Given the description of an element on the screen output the (x, y) to click on. 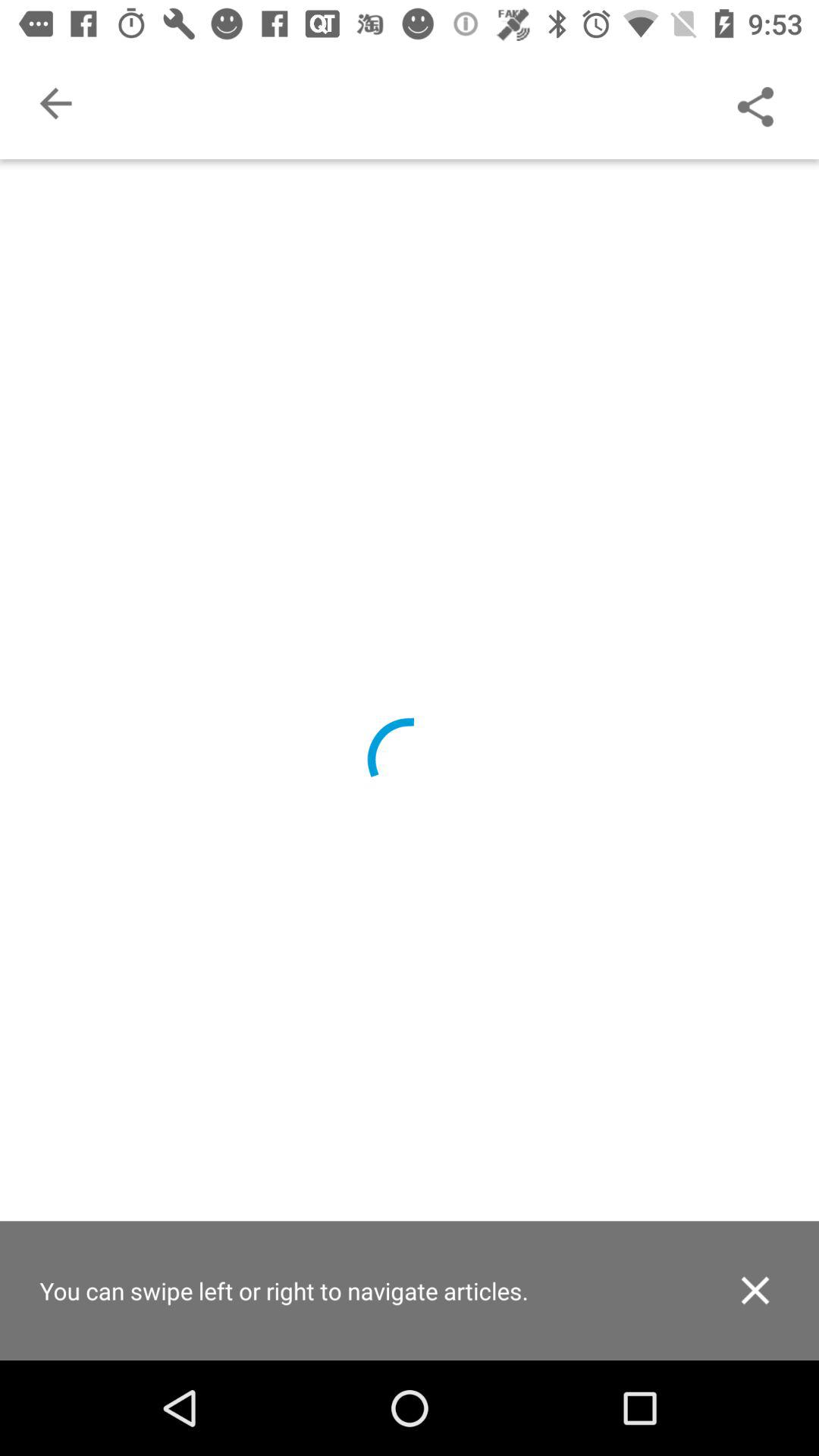
share (755, 103)
